Given the description of an element on the screen output the (x, y) to click on. 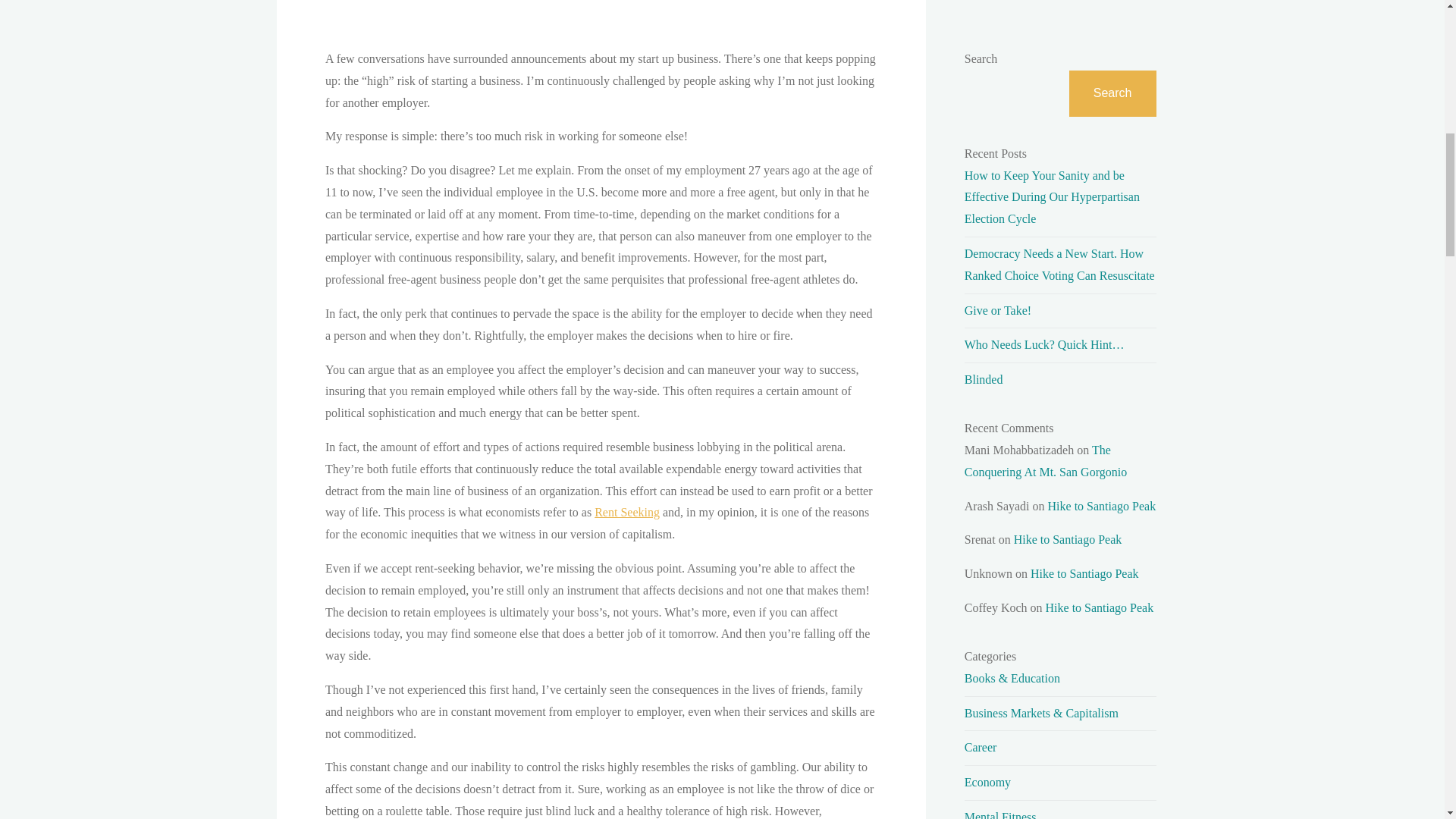
Hike to Santiago Peak (1099, 607)
Career (980, 747)
Rent Seeking (626, 512)
Mental Fitness (999, 814)
The Conquering At Mt. San Gorgonio (1044, 460)
Search (1112, 93)
Give or Take! (996, 309)
Hike to Santiago Peak (1084, 573)
Blinded (983, 379)
Economy (986, 781)
Hike to Santiago Peak (1067, 539)
Hike to Santiago Peak (1102, 505)
